Given the description of an element on the screen output the (x, y) to click on. 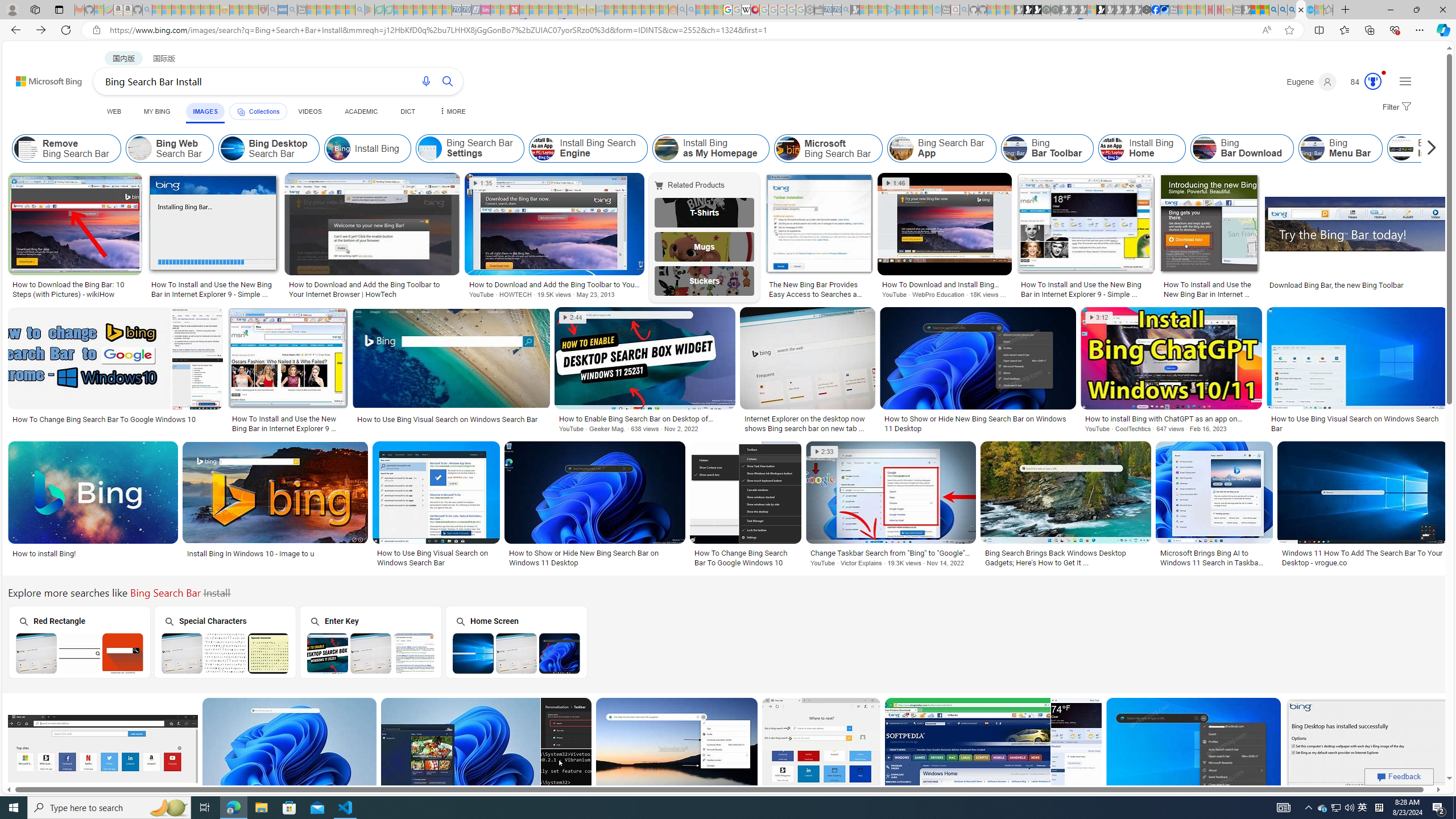
Bing Search Bar App (941, 148)
WEB (114, 111)
Filter (1395, 107)
MORE (451, 111)
Bing Web Search Bar (168, 148)
